Given the description of an element on the screen output the (x, y) to click on. 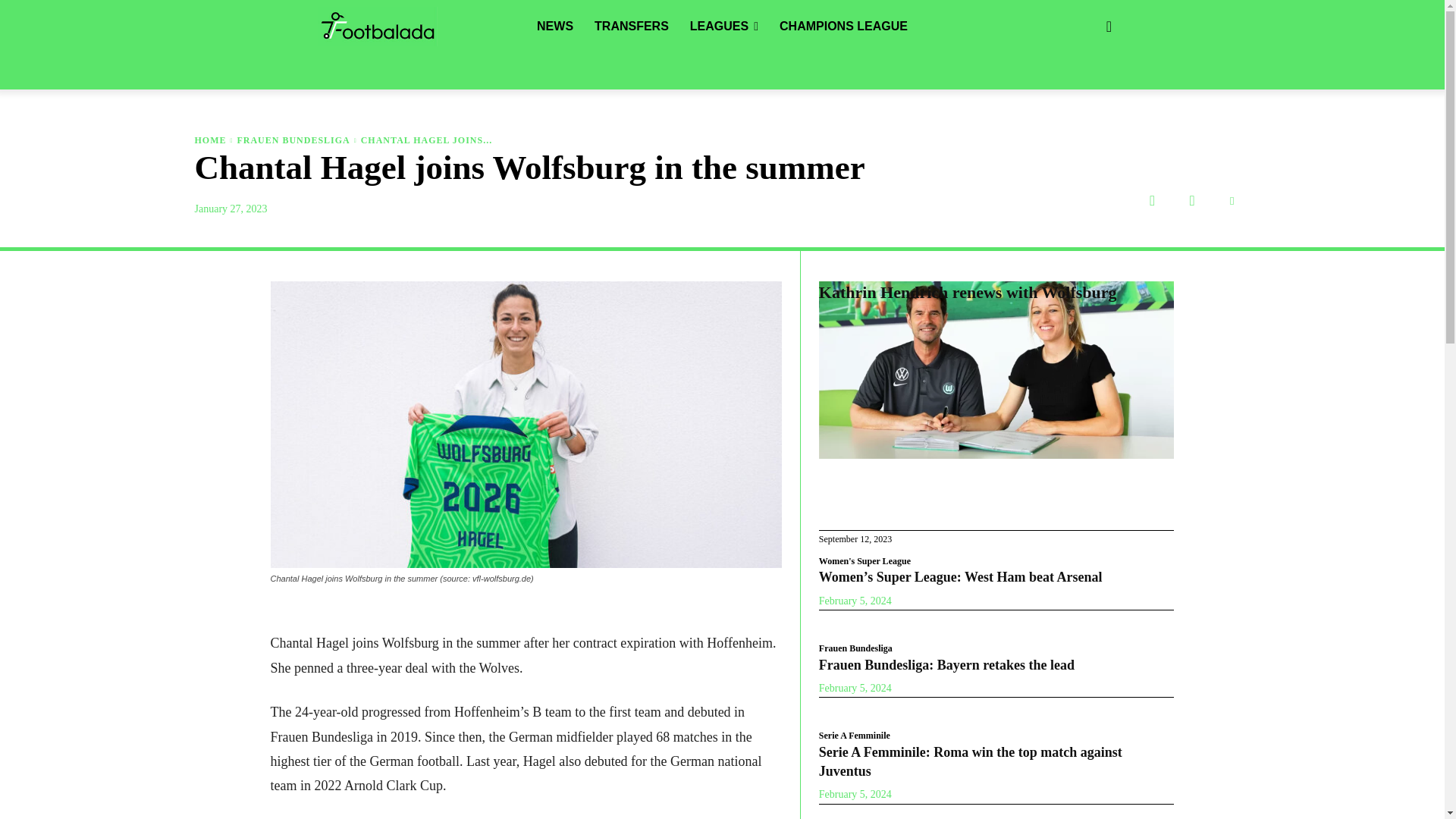
Instagram (1191, 200)
Women's Super League (864, 561)
Kathrin Hendrich renews with Wolfsburg (967, 292)
Serie A Femminile: Roma win the top match against Juventus (970, 761)
Frauen Bundesliga: Bayern retakes the lead (946, 664)
Facebook (1152, 200)
HOME (209, 140)
CHAMPIONS LEAGUE (843, 26)
Serie A Femminile: Roma win the top match against Juventus (970, 761)
View all posts in Frauen Bundesliga (292, 140)
Kathrin Hendrich renews with Wolfsburg (967, 292)
LEAGUES (723, 26)
Kathrin Hendrich renews with Wolfsburg (996, 369)
Serie A Femminile (853, 735)
